Given the description of an element on the screen output the (x, y) to click on. 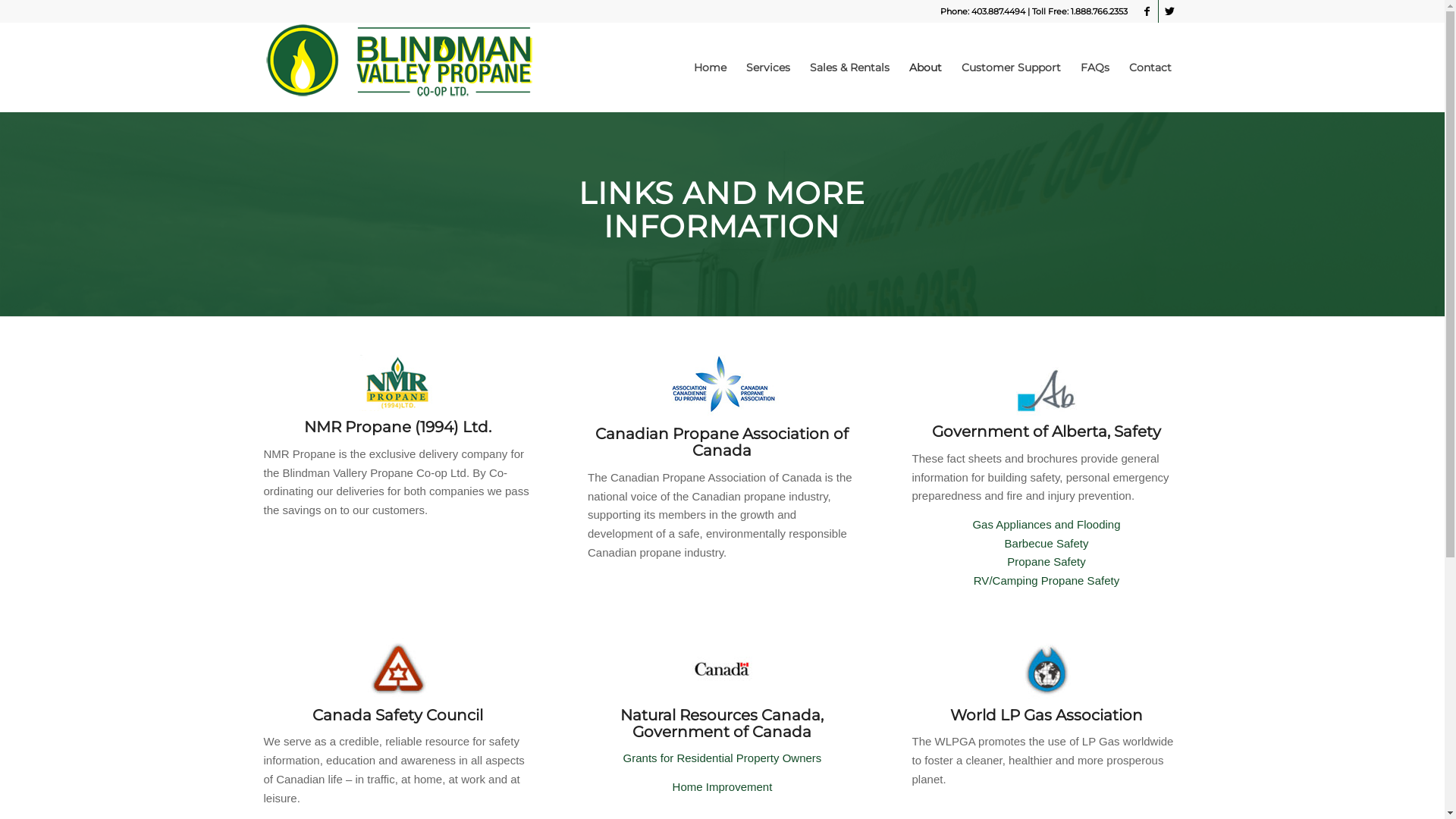
Blindman Valley Propane Co-op Element type: hover (398, 60)
Propane Safety Element type: text (1046, 561)
Blindman Valley Propane Co-op Element type: hover (398, 67)
RV/Camping Propane Safety Element type: text (1046, 580)
Customer Support Element type: text (1010, 67)
About Element type: text (925, 67)
Facebook Element type: hover (1146, 11)
Grants for Residential Property Owners Element type: text (722, 757)
Alberta Government Element type: hover (1046, 384)
wlpga_sm Element type: hover (1046, 668)
CPA_logos Element type: hover (721, 385)
Services Element type: text (767, 67)
Sales & Rentals Element type: text (848, 67)
Twitter Element type: hover (1169, 11)
Gas Appliances and Flooding Element type: text (1046, 523)
Contact Element type: text (1150, 67)
Home Improvement Element type: text (722, 786)
csc_sm Element type: hover (397, 668)
Barbecue Safety Element type: text (1046, 542)
FAQs Element type: text (1094, 67)
Home Element type: text (710, 67)
goc_sm Element type: hover (721, 668)
NMR Element type: hover (397, 382)
